Given the description of an element on the screen output the (x, y) to click on. 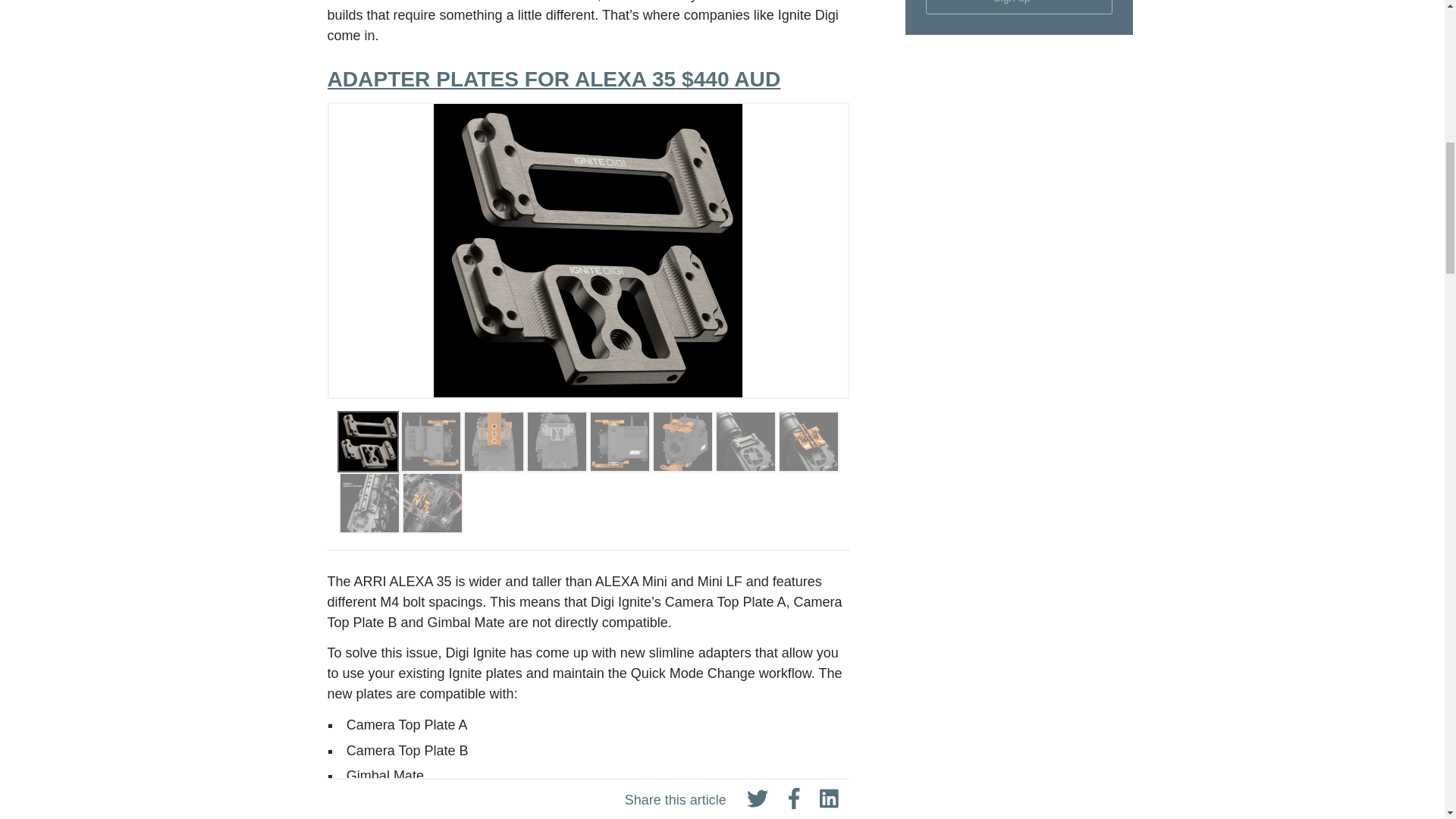
3rd party ad content (1018, 570)
3rd party ad content (1018, 360)
3rd party ad content (1018, 752)
3rd party ad content (1018, 149)
